Given the description of an element on the screen output the (x, y) to click on. 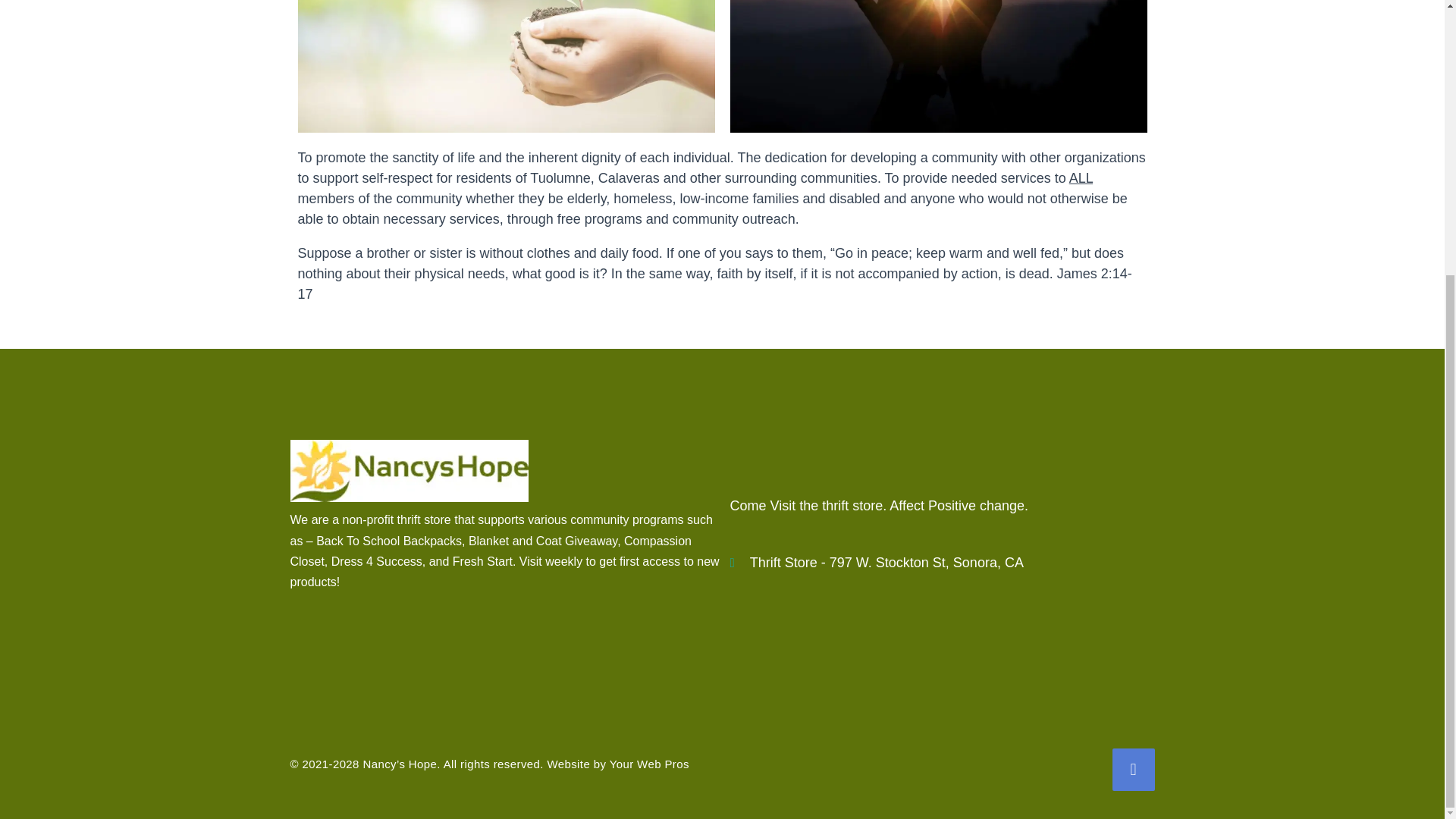
Your Web Pros (649, 763)
